Given the description of an element on the screen output the (x, y) to click on. 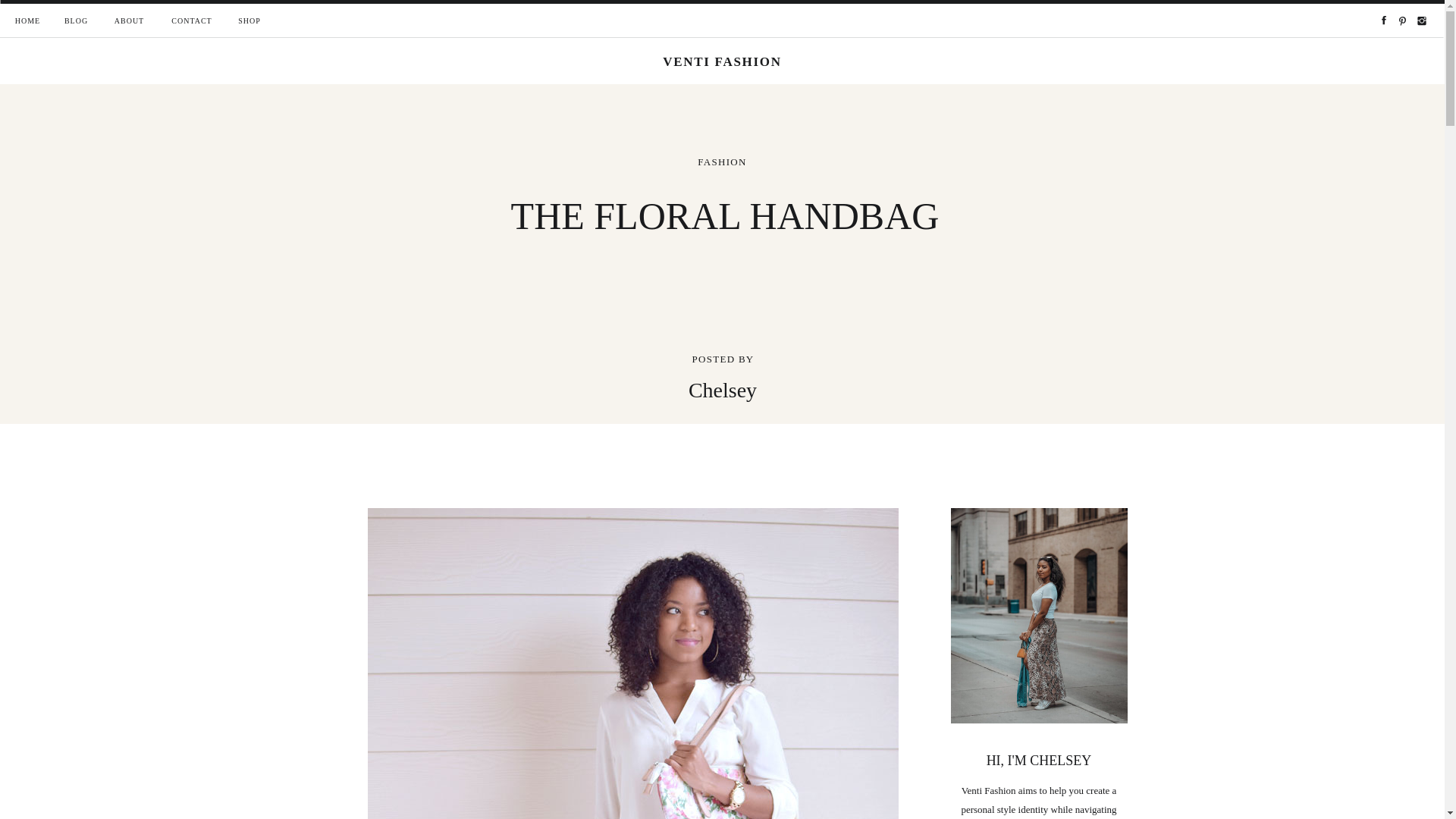
BLOG (76, 20)
VENTI FASHION (722, 62)
SHOP (249, 20)
HOME (27, 20)
CONTACT (191, 20)
FASHION (721, 161)
ABOUT (128, 20)
